Given the description of an element on the screen output the (x, y) to click on. 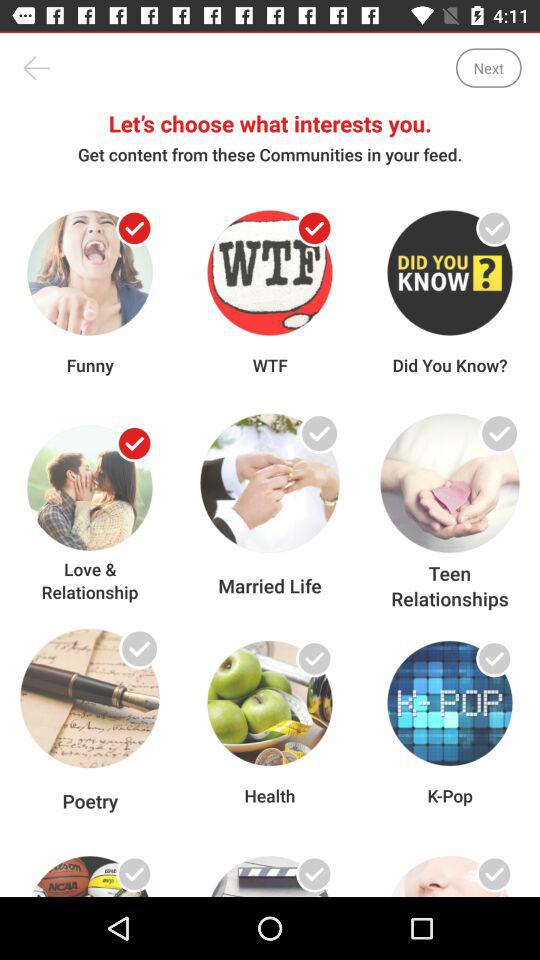
go do sealet (494, 228)
